Given the description of an element on the screen output the (x, y) to click on. 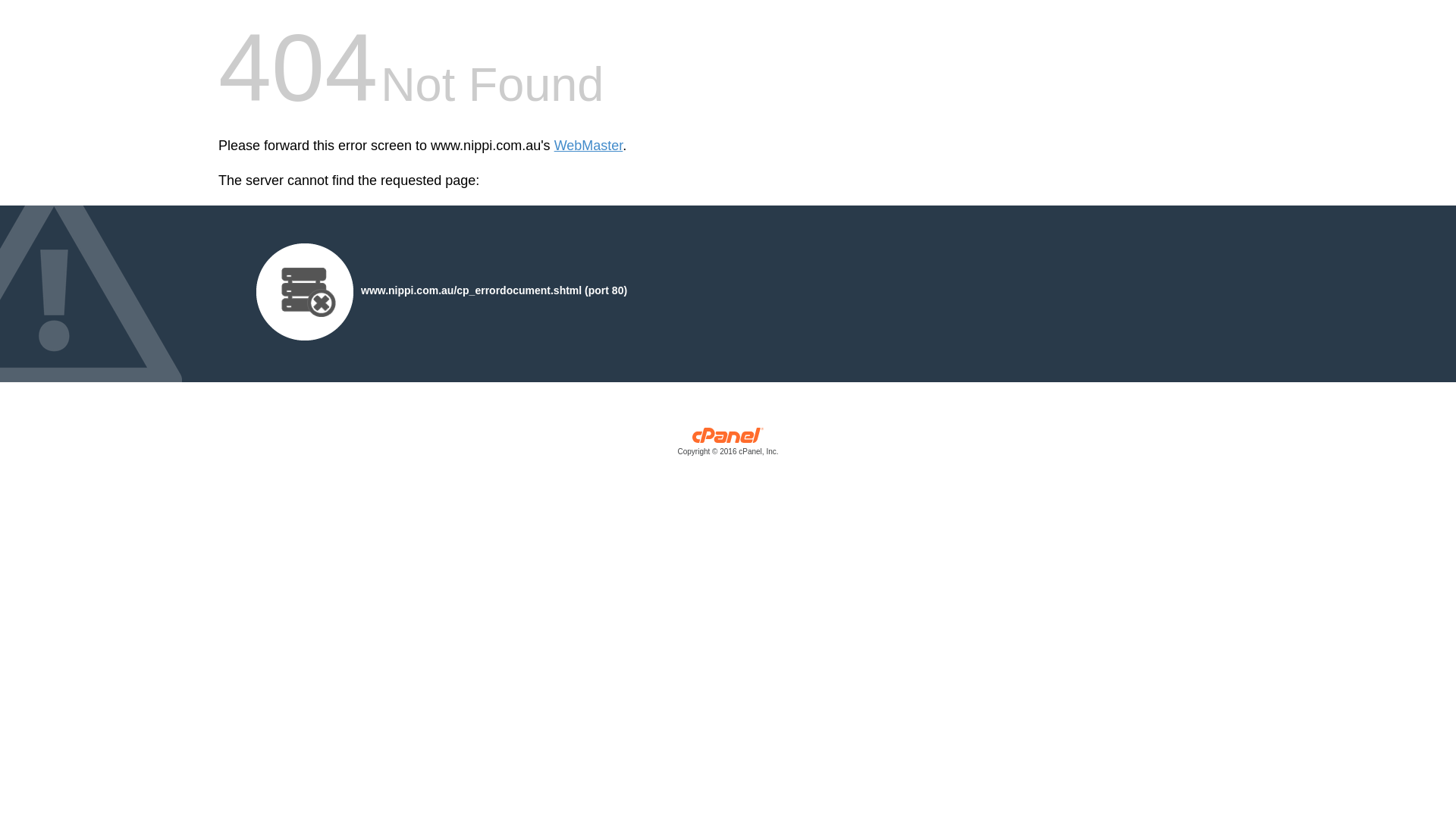
WebMaster Element type: text (588, 145)
